Given the description of an element on the screen output the (x, y) to click on. 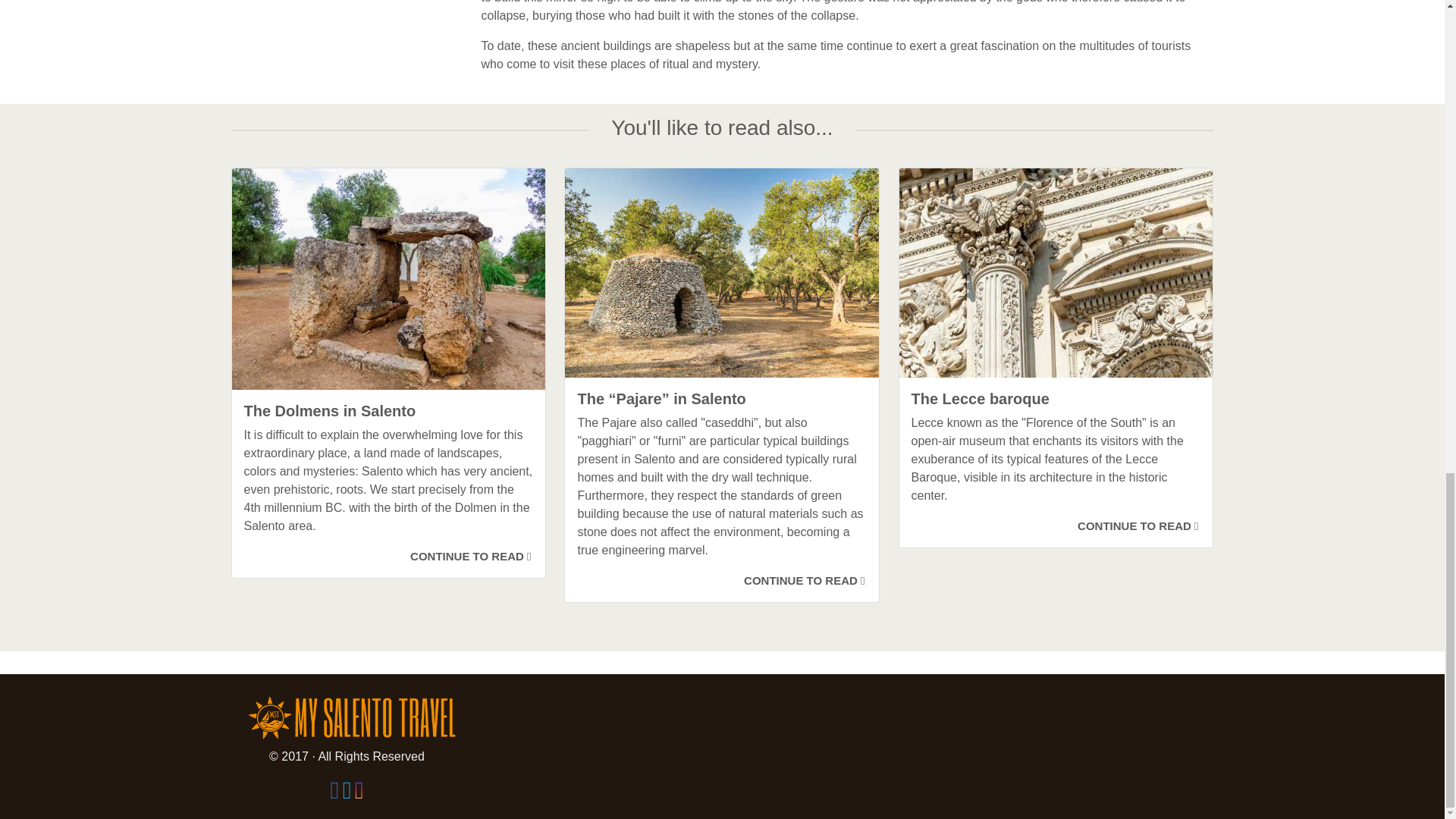
CONTINUE TO READ (804, 580)
CONTINUE TO READ (470, 555)
Visit our Twitter page (348, 793)
Continua a leggere 'The Lecce baroque' (1137, 525)
The Lecce baroque (1056, 398)
The Dolmens in Salento (389, 411)
Continua a leggere 'The Dolmens in Salento' (470, 555)
Visit our Facebook page (336, 793)
CONTINUE TO READ (1137, 525)
The Dolmens in Salento (389, 411)
The Lecce baroque (1056, 398)
